Given the description of an element on the screen output the (x, y) to click on. 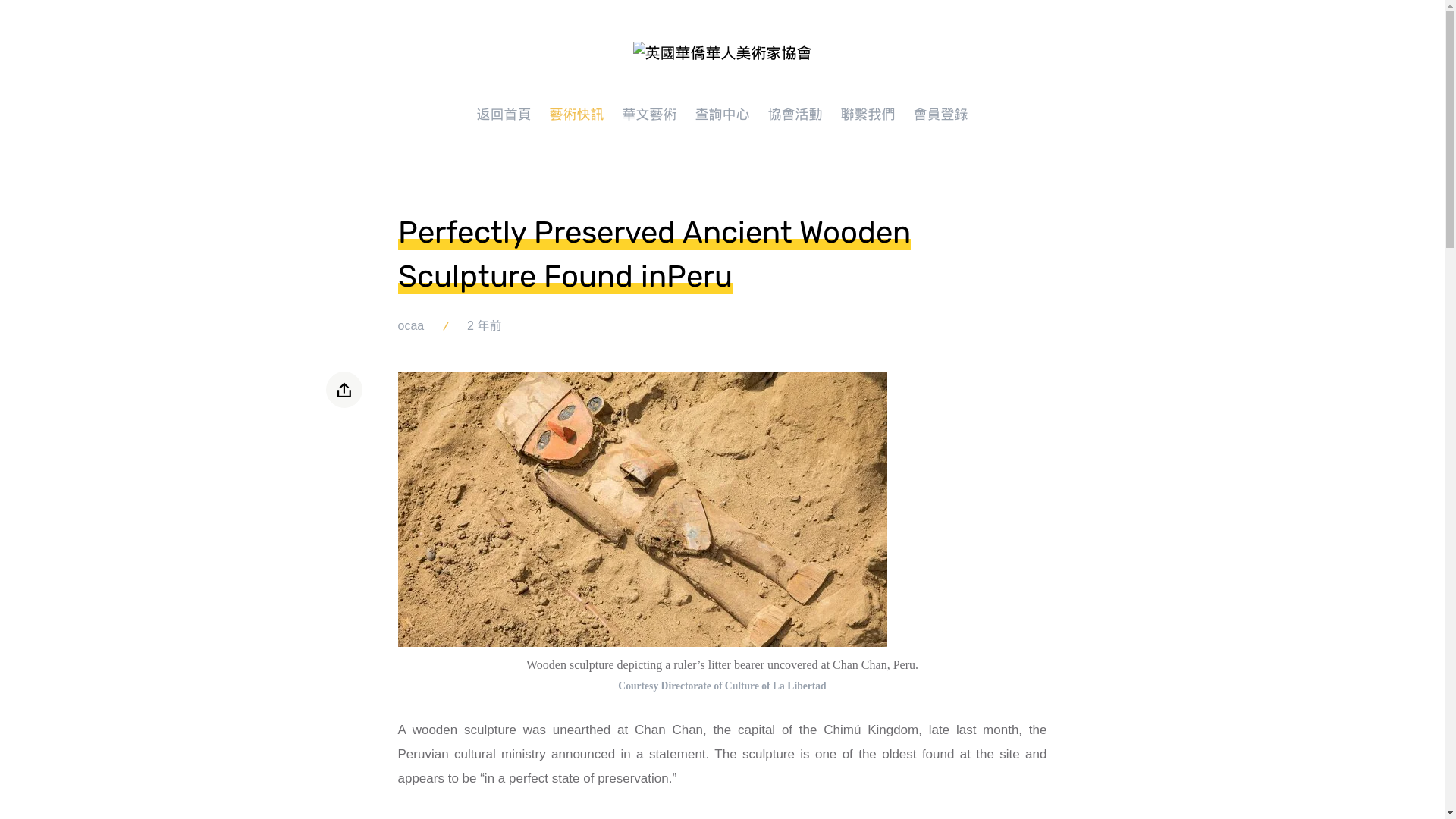
ocaa (410, 325)
